Given the description of an element on the screen output the (x, y) to click on. 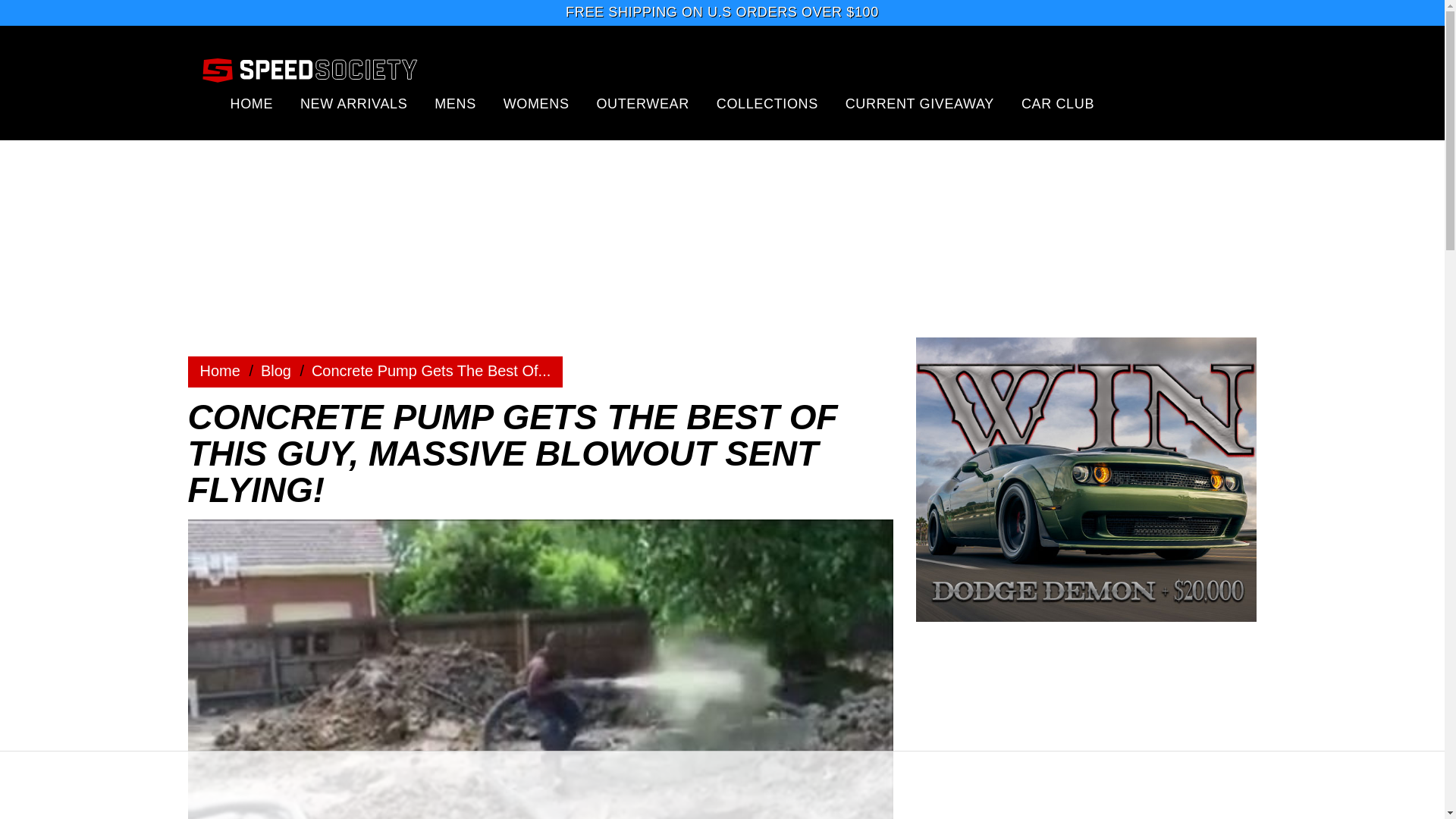
HOME (251, 103)
Home (275, 370)
CAR CLUB (1058, 103)
MENS (454, 103)
speed society logo (308, 69)
NEW ARRIVALS (353, 103)
WOMENS (536, 103)
Home (220, 370)
Home (220, 370)
